Given the description of an element on the screen output the (x, y) to click on. 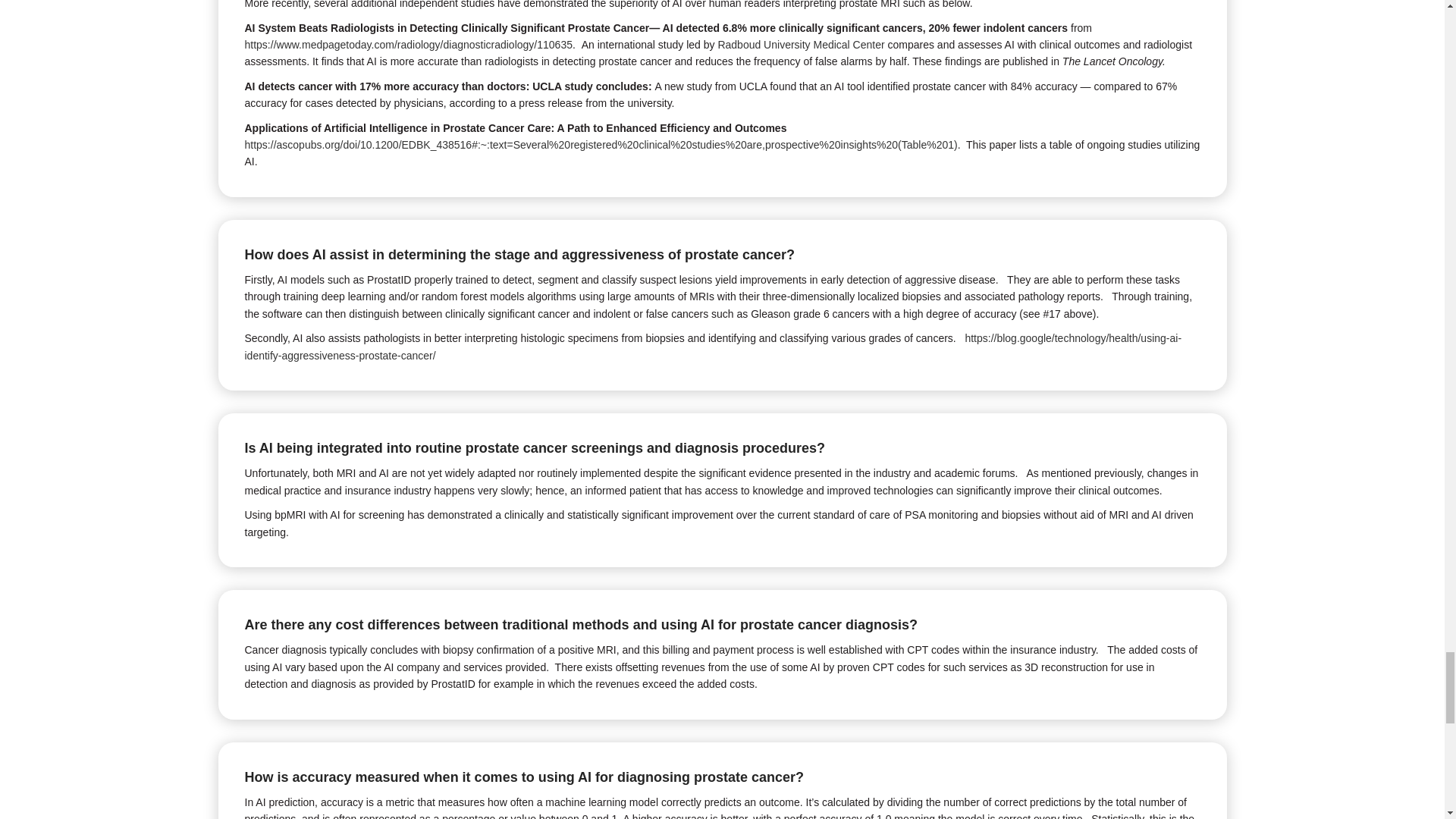
Radboud University Medical Center (800, 44)
